Given the description of an element on the screen output the (x, y) to click on. 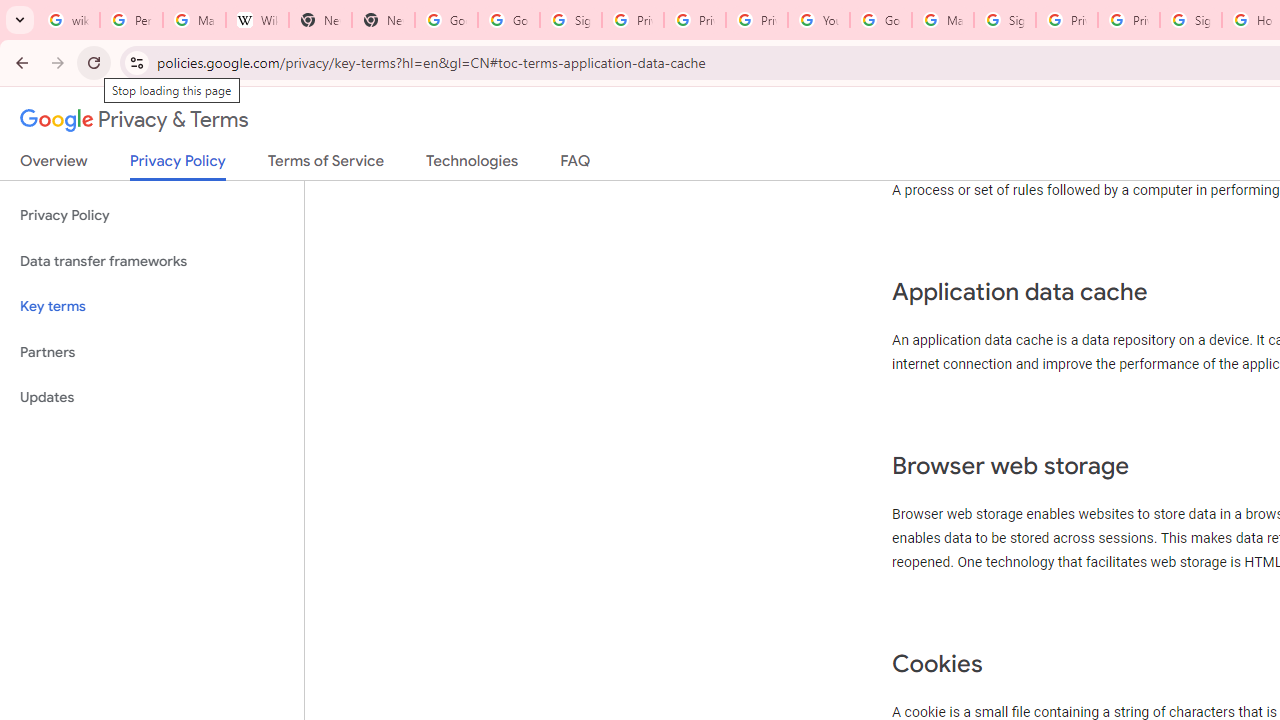
New Tab (383, 20)
Personalization & Google Search results - Google Search Help (130, 20)
YouTube (818, 20)
